Given the description of an element on the screen output the (x, y) to click on. 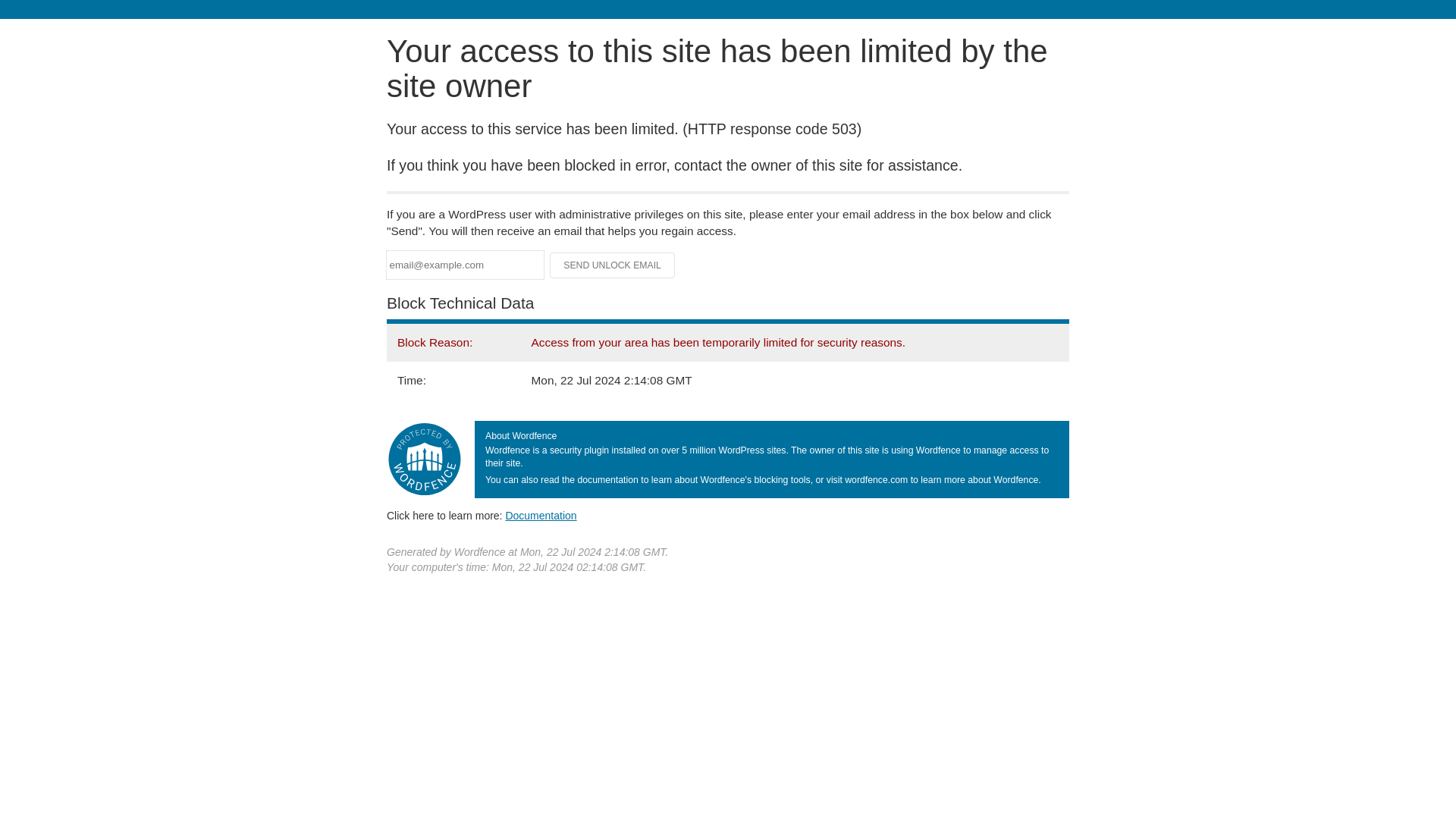
Send Unlock Email (612, 265)
Documentation (540, 515)
Send Unlock Email (612, 265)
